Given the description of an element on the screen output the (x, y) to click on. 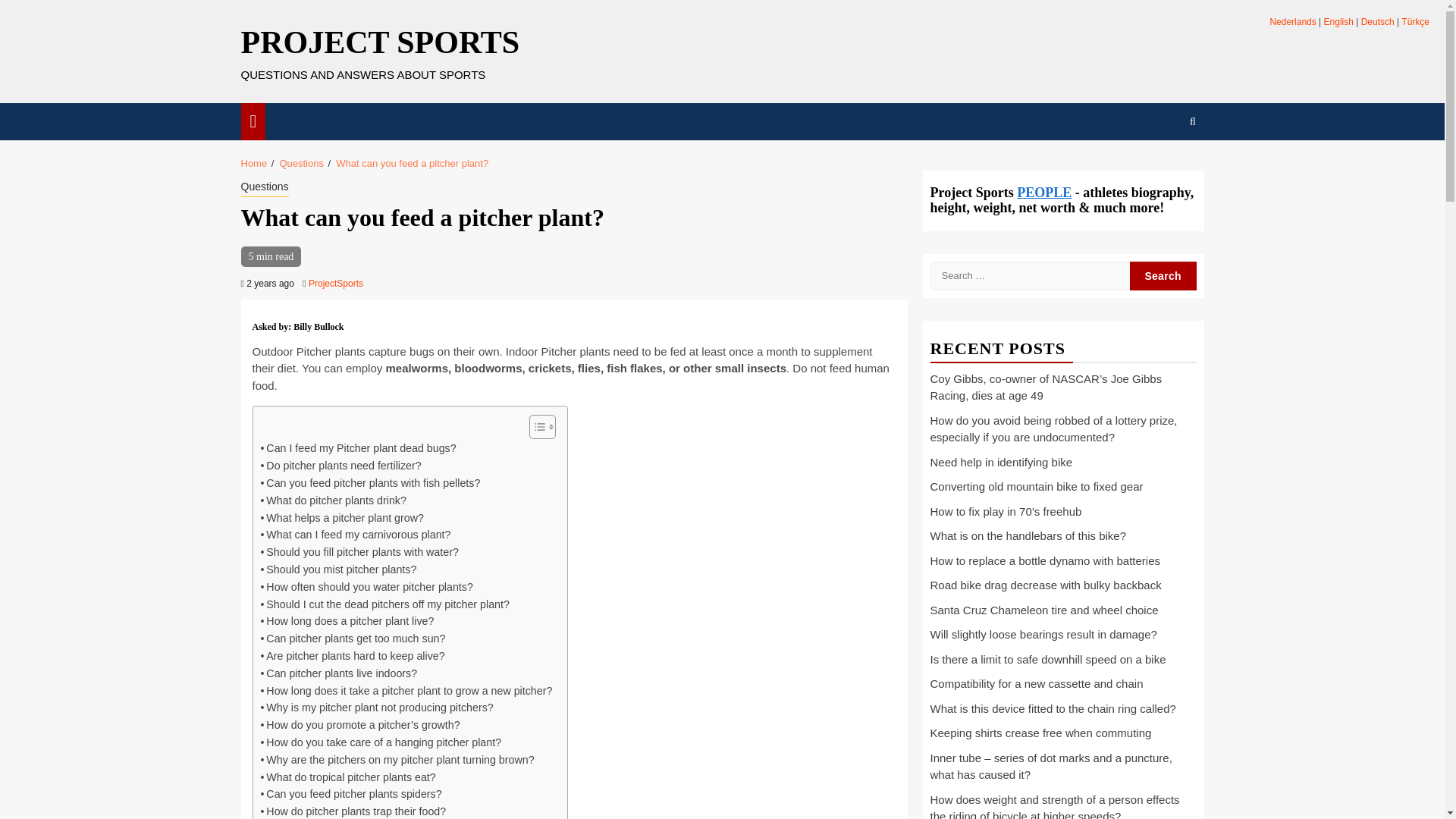
English (1338, 21)
How often should you water pitcher plants? (366, 587)
What helps a pitcher plant grow? (341, 518)
Home (254, 163)
Are pitcher plants hard to keep alive? (352, 656)
Should you fill pitcher plants with water? (359, 552)
Questions (301, 163)
Can you feed pitcher plants with fish pellets? (370, 483)
What can I feed my carnivorous plant? (355, 534)
Should you mist pitcher plants? (338, 569)
Search (1163, 167)
Should you fill pitcher plants with water? (359, 552)
Can pitcher plants get too much sun? (352, 638)
Can pitcher plants get too much sun? (352, 638)
Can you feed pitcher plants with fish pellets? (370, 483)
